Given the description of an element on the screen output the (x, y) to click on. 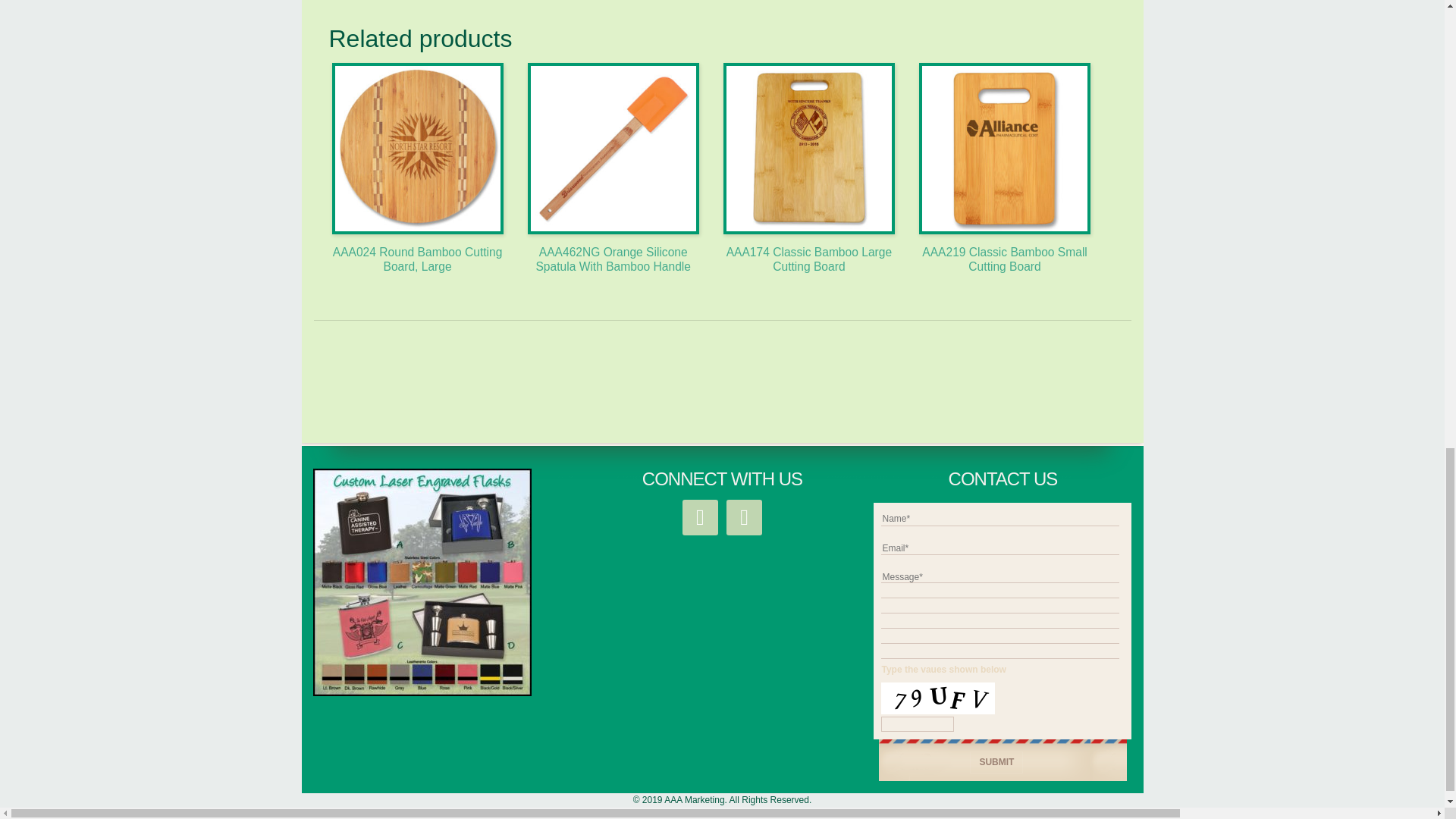
linkedin (743, 516)
Submit (996, 762)
facebook (699, 516)
Submit (996, 762)
